Given the description of an element on the screen output the (x, y) to click on. 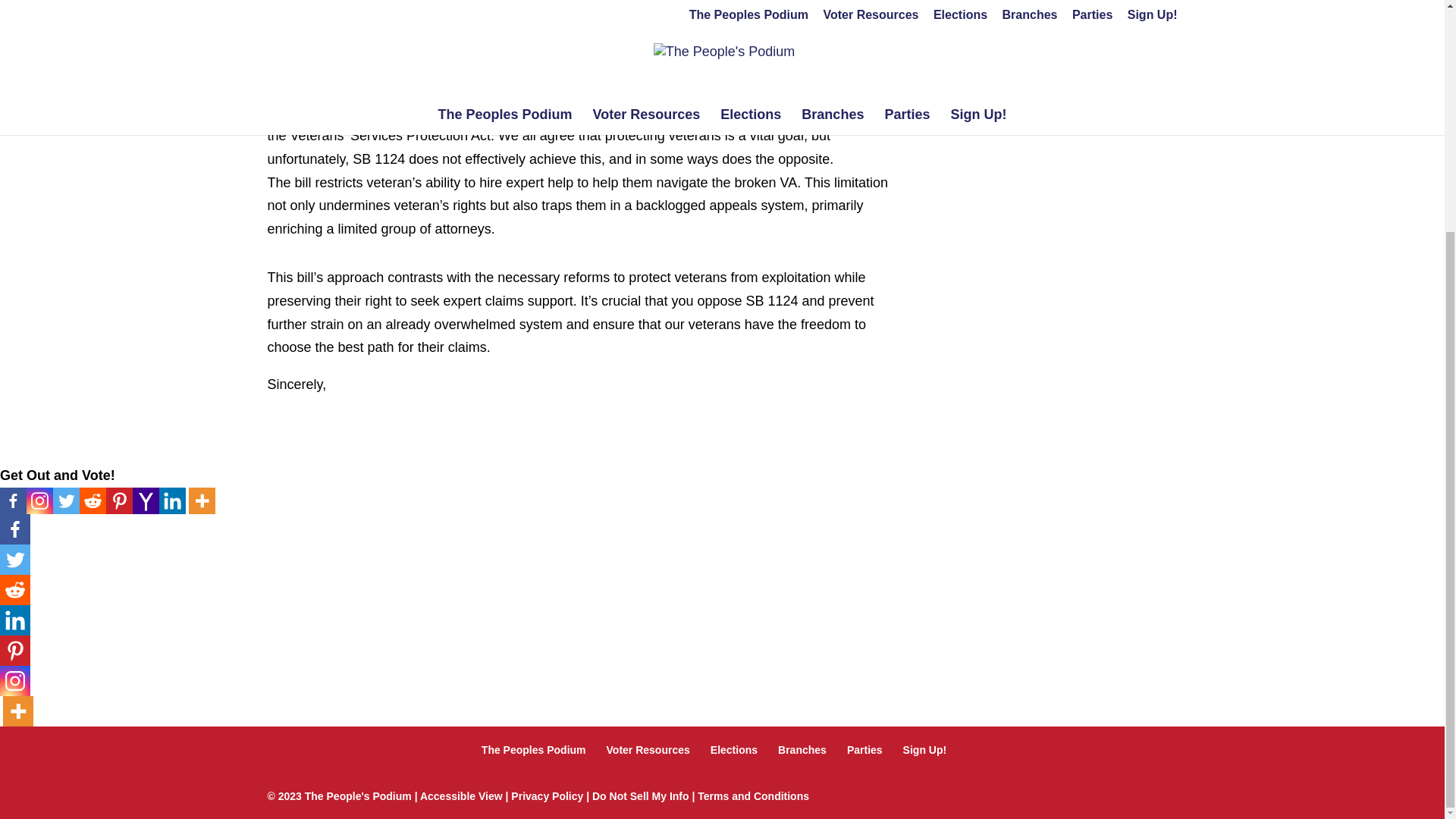
Twitter (66, 500)
Facebook (15, 529)
Parties (864, 749)
Yahoo Mail (145, 500)
Do Not Sell My Info (640, 795)
Sign Up! (924, 749)
Instagram (15, 680)
Voter Resources (648, 749)
Terms and Conditions (753, 795)
Facebook (13, 500)
